Given the description of an element on the screen output the (x, y) to click on. 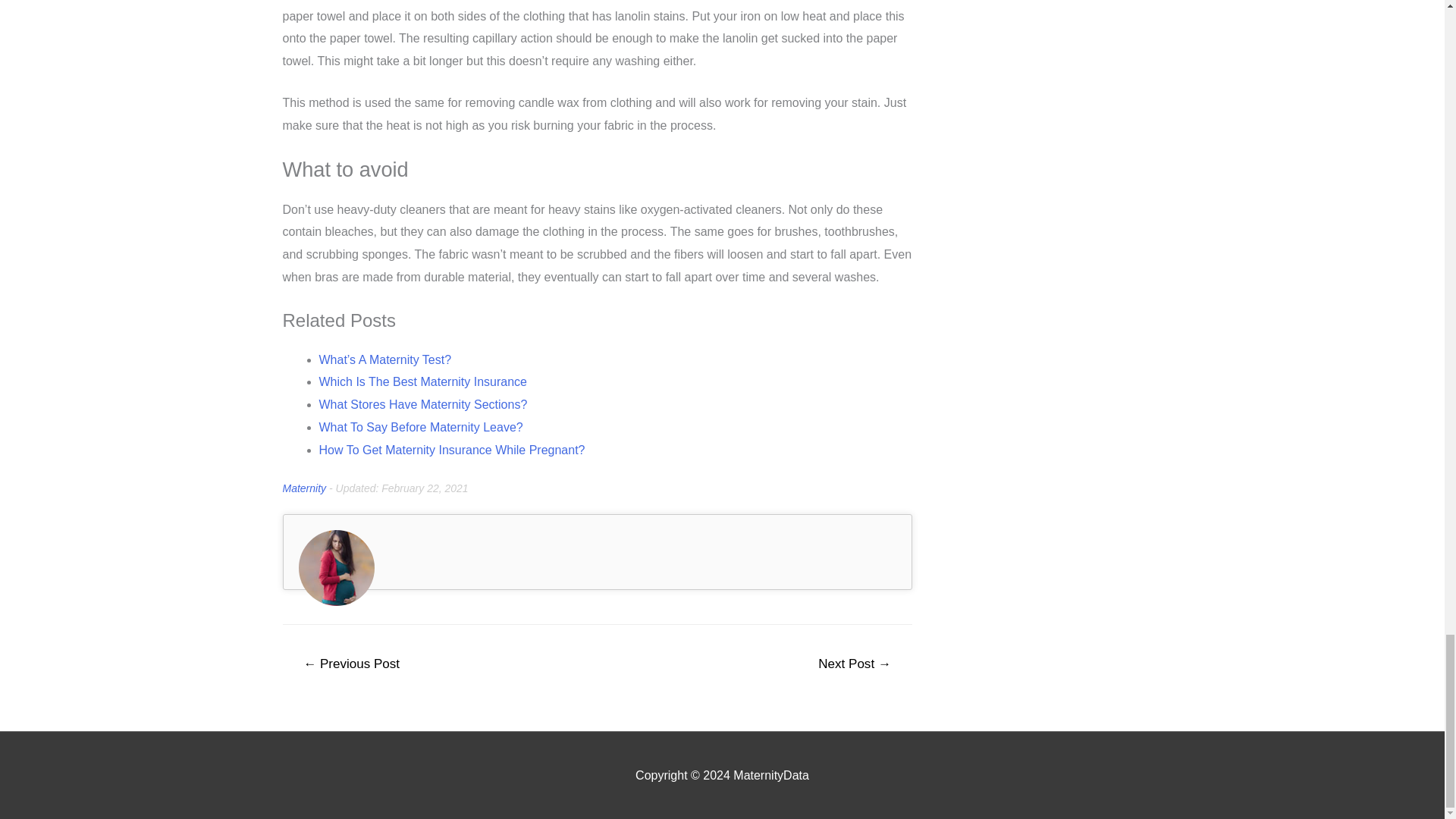
What Stores Have Maternity Sections? (422, 404)
How To Get Maternity Insurance While Pregnant? (451, 449)
Which Is The Best Maternity Insurance (421, 381)
What Stores Have Maternity Sections? (422, 404)
Maternity (304, 488)
Which Is The Best Maternity Insurance (421, 381)
What To Say Before Maternity Leave? (420, 427)
How To Get Maternity Insurance While Pregnant? (451, 449)
What To Say Before Maternity Leave? (420, 427)
